Given the description of an element on the screen output the (x, y) to click on. 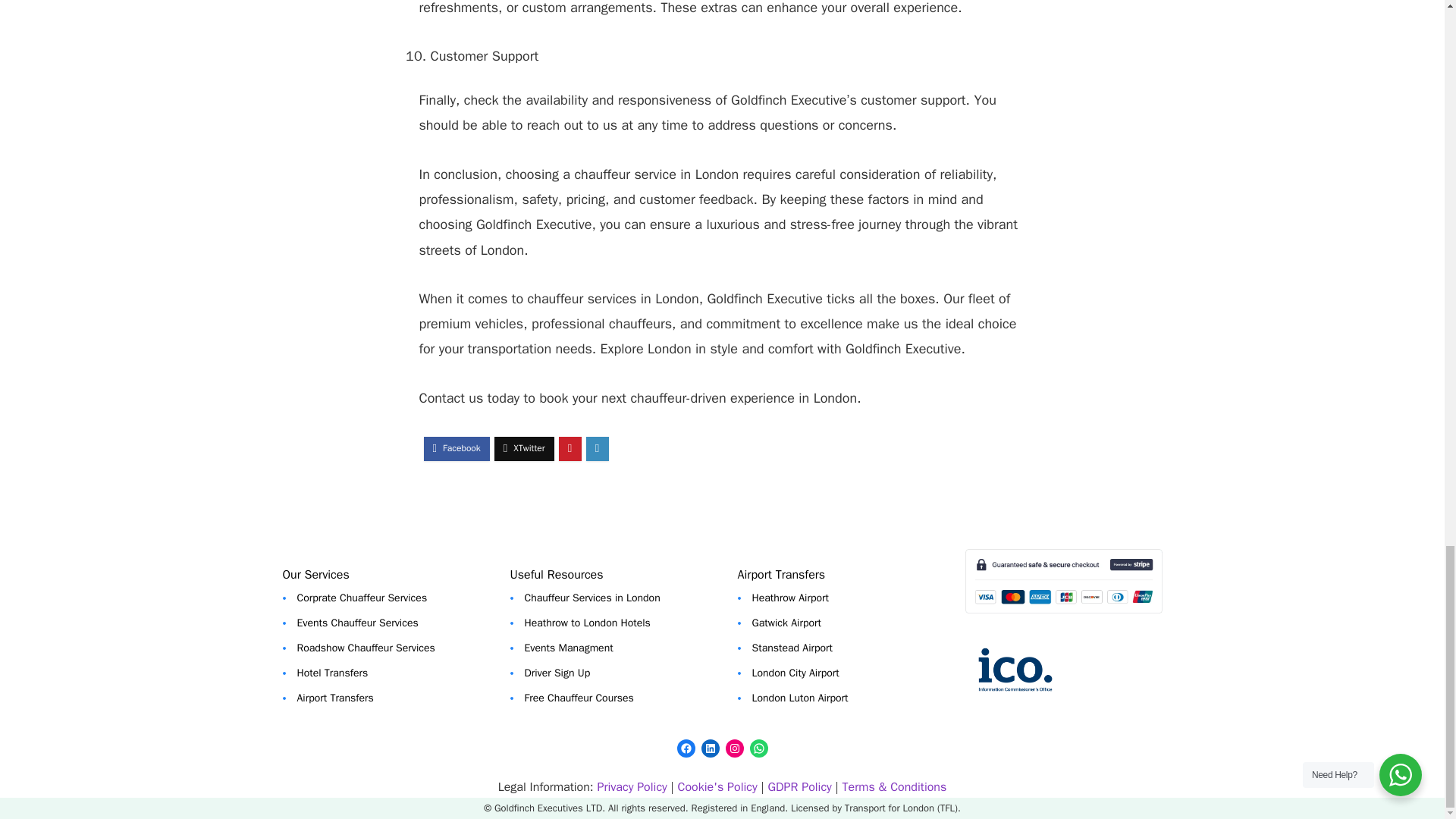
Cookie's Policy (717, 786)
GDPR Policy (800, 786)
Instagram (733, 748)
WhatsApp (758, 748)
LinkedIn (709, 748)
Privacy Policy (631, 786)
Facebook (685, 748)
